Given the description of an element on the screen output the (x, y) to click on. 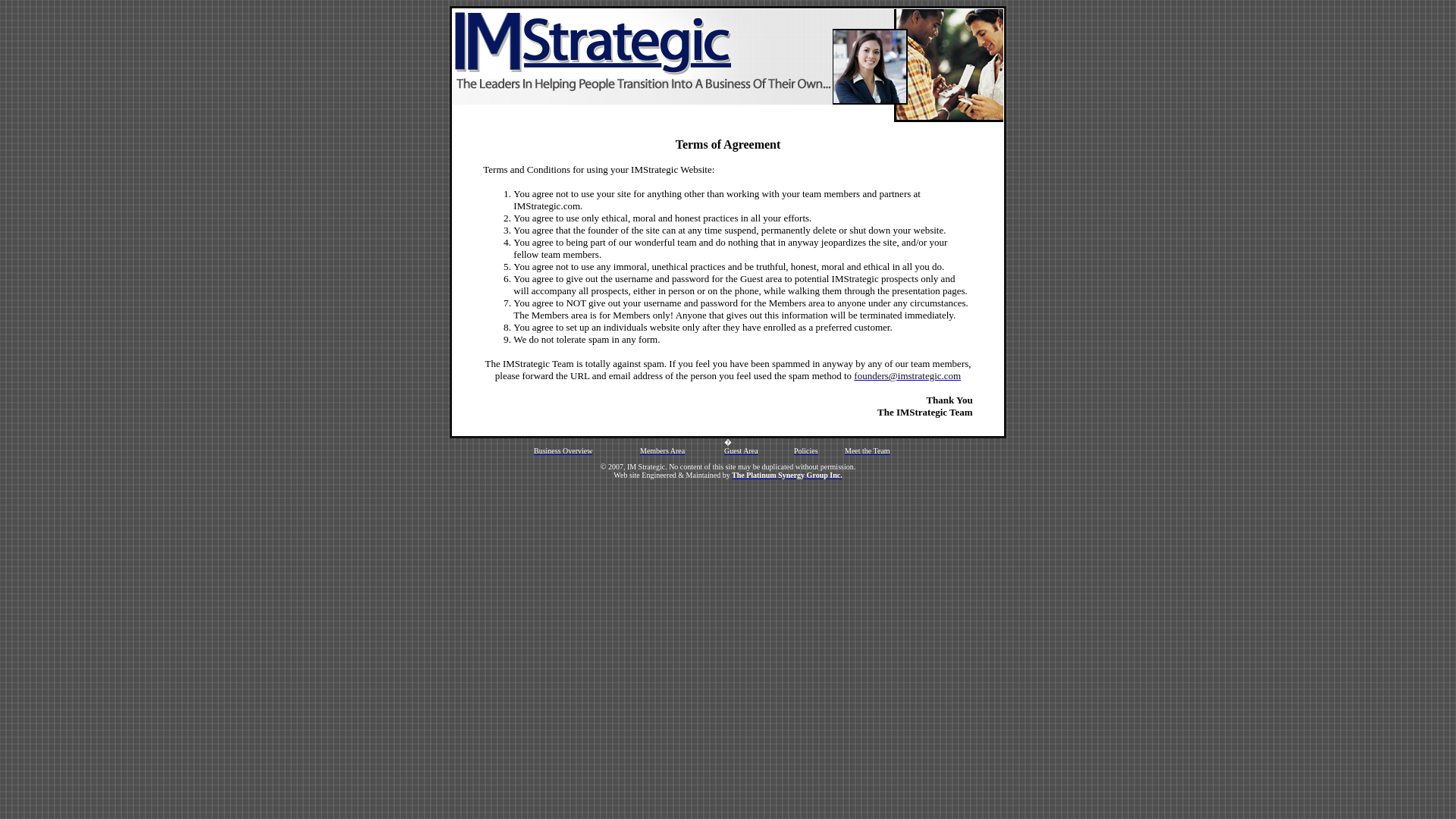
Guest Area (740, 450)
Policies (805, 450)
Business Overview (563, 450)
Members Area (662, 450)
Meet the Team (866, 450)
The Platinum Synergy Group Inc. (787, 474)
